Given the description of an element on the screen output the (x, y) to click on. 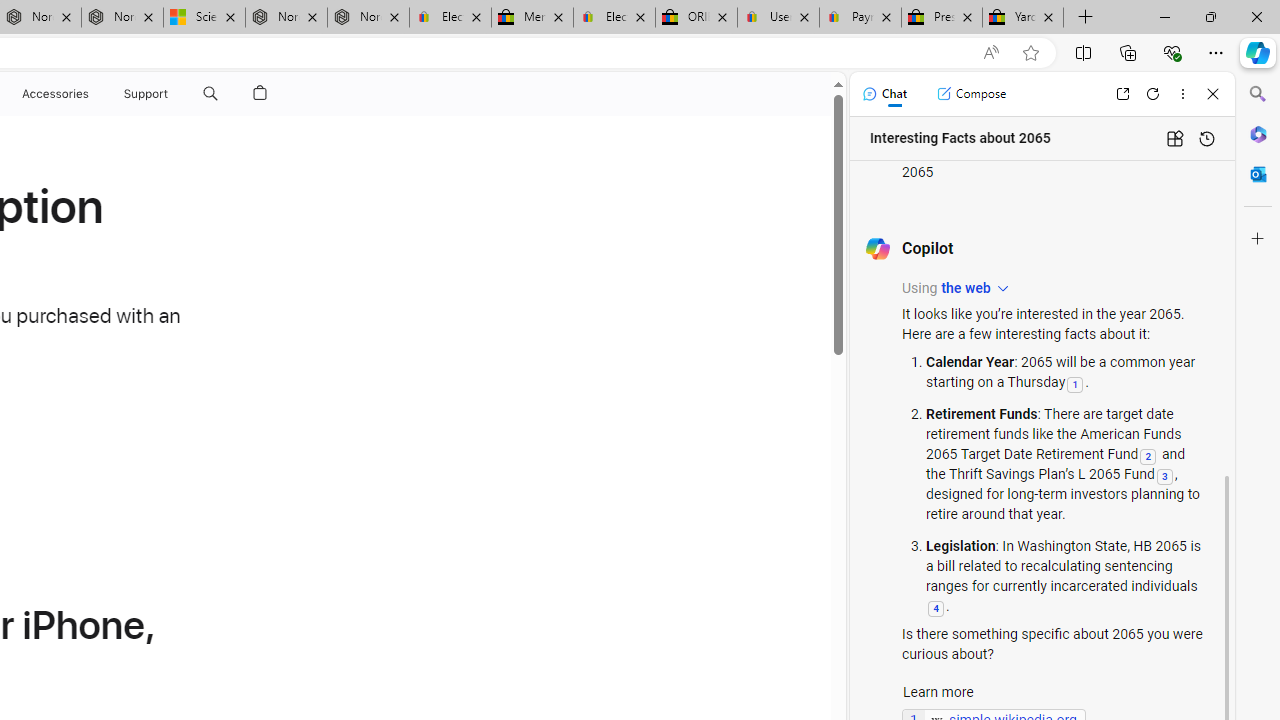
Nordace - FAQ (368, 17)
Class: globalnav-item globalnav-search shift-0-1 (210, 93)
AutomationID: globalnav-bag (260, 93)
Class: globalnav-submenu-trigger-item (172, 93)
Support (146, 93)
